Given the description of an element on the screen output the (x, y) to click on. 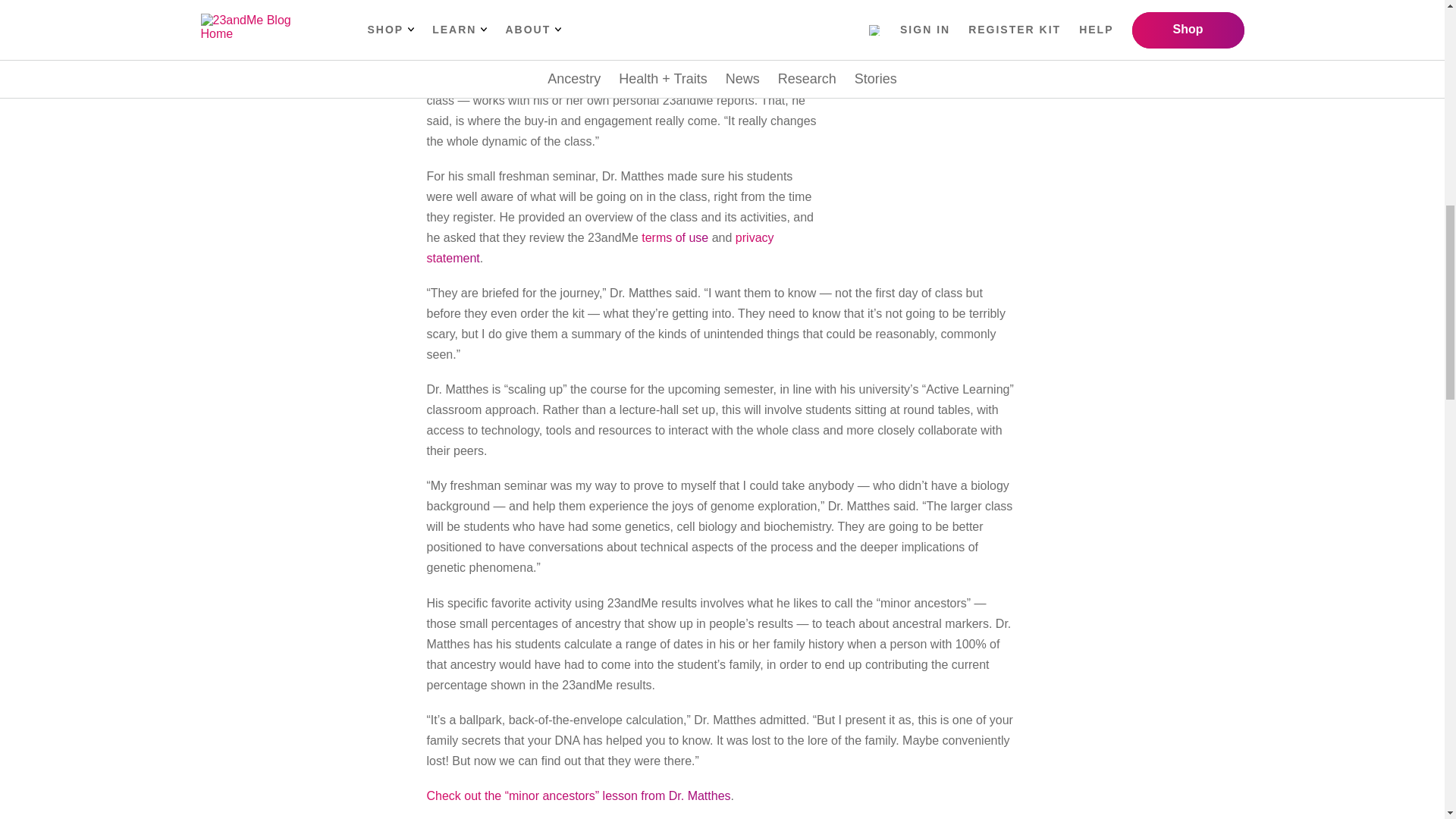
terms of use (674, 237)
privacy statement (599, 247)
